Given the description of an element on the screen output the (x, y) to click on. 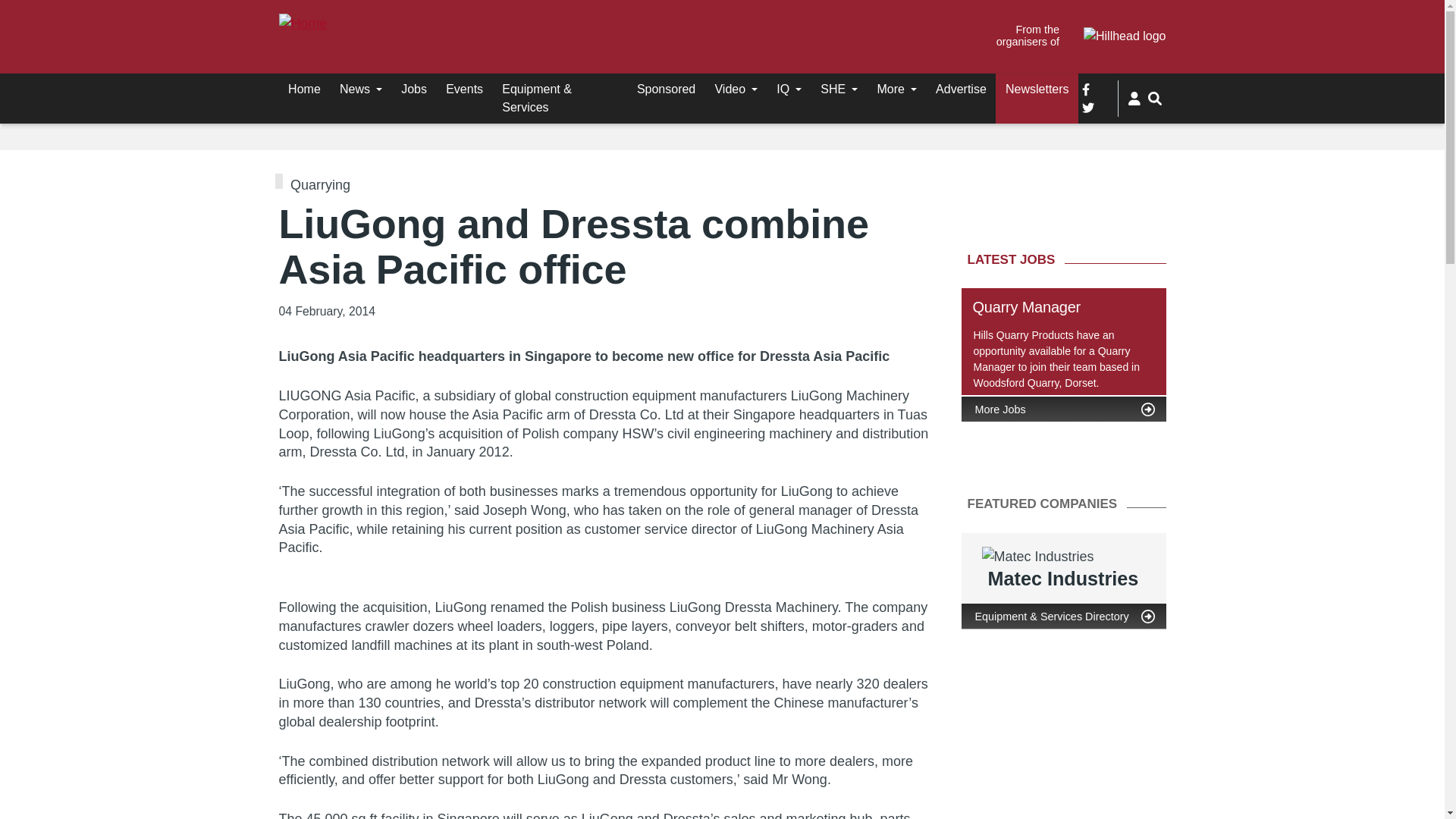
SHE (838, 89)
Newsletters (1036, 89)
Jobs (413, 89)
More (896, 89)
News (360, 89)
Video (735, 89)
Home (304, 89)
Events (464, 89)
Sponsored (665, 89)
IQ (788, 89)
Advertise (960, 89)
